Given the description of an element on the screen output the (x, y) to click on. 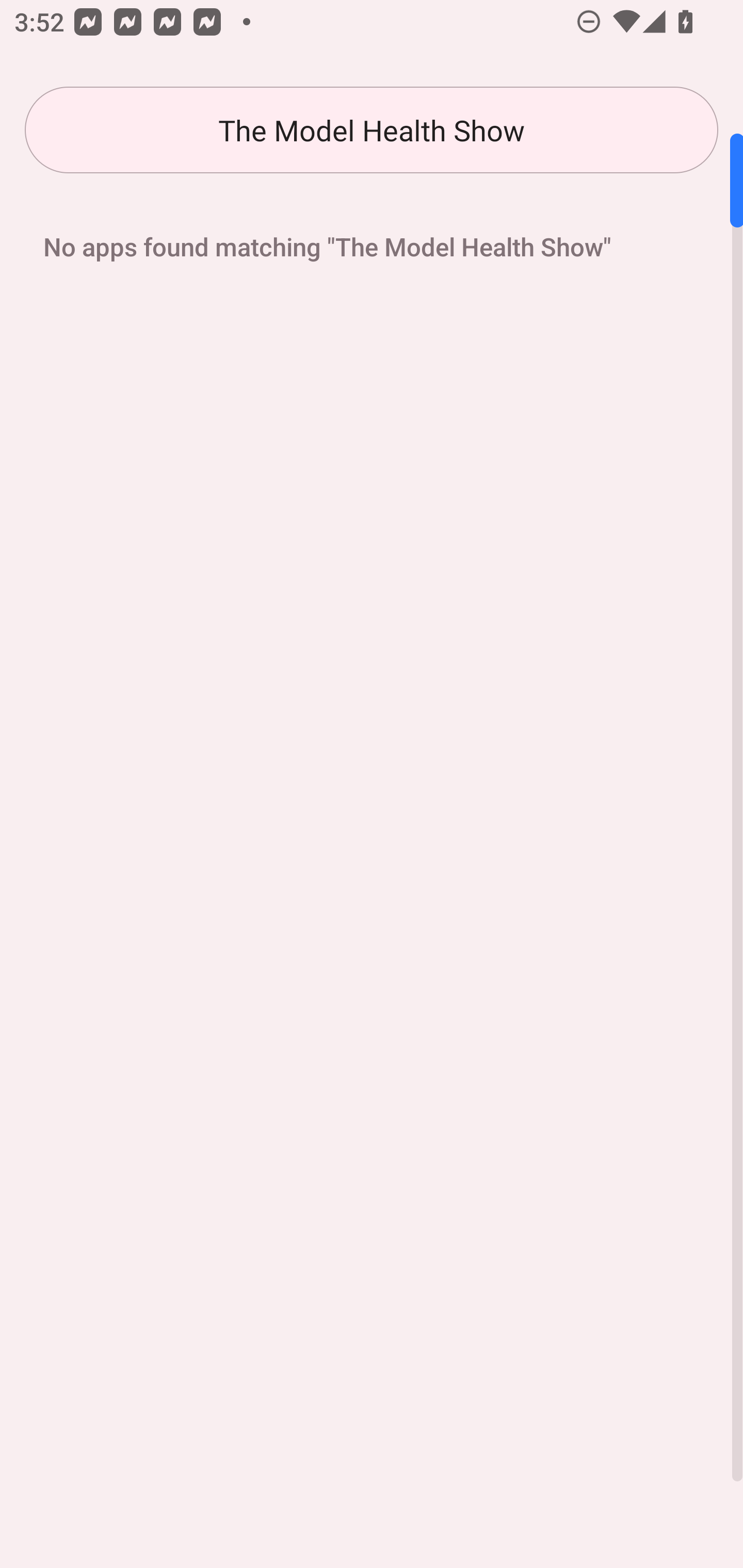
The Model Health Show (371, 130)
